Given the description of an element on the screen output the (x, y) to click on. 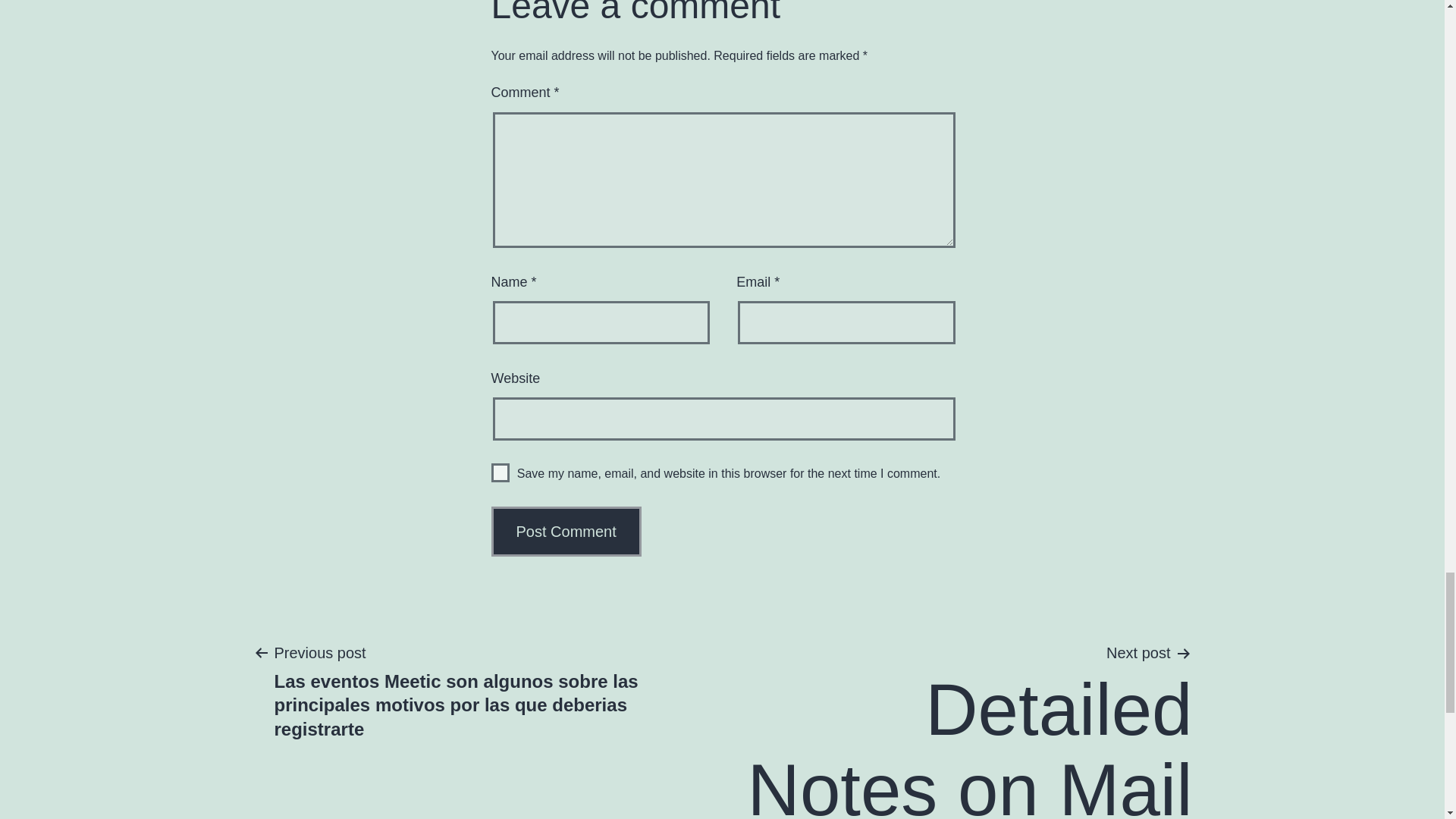
yes (500, 472)
Post Comment (567, 531)
Post Comment (567, 531)
